Given the description of an element on the screen output the (x, y) to click on. 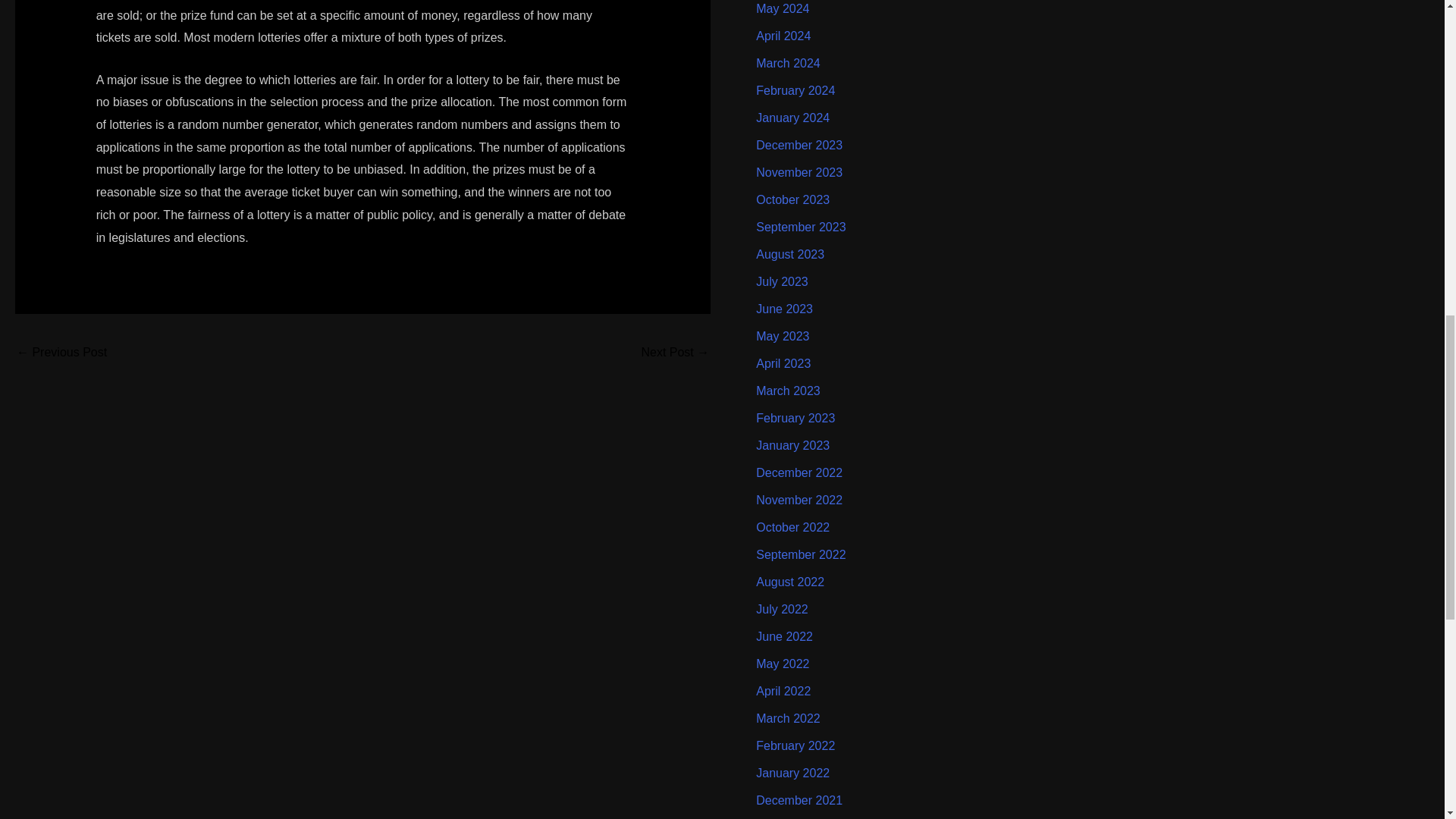
October 2022 (792, 526)
December 2023 (799, 144)
February 2024 (794, 90)
May 2024 (782, 8)
September 2022 (800, 554)
January 2024 (792, 117)
September 2023 (800, 226)
December 2022 (799, 472)
February 2023 (794, 418)
How to Find the Best Online Casinos (61, 353)
How to Place a Bet at a Sportsbook (674, 353)
March 2023 (788, 390)
July 2023 (781, 281)
May 2023 (782, 336)
November 2022 (799, 499)
